Given the description of an element on the screen output the (x, y) to click on. 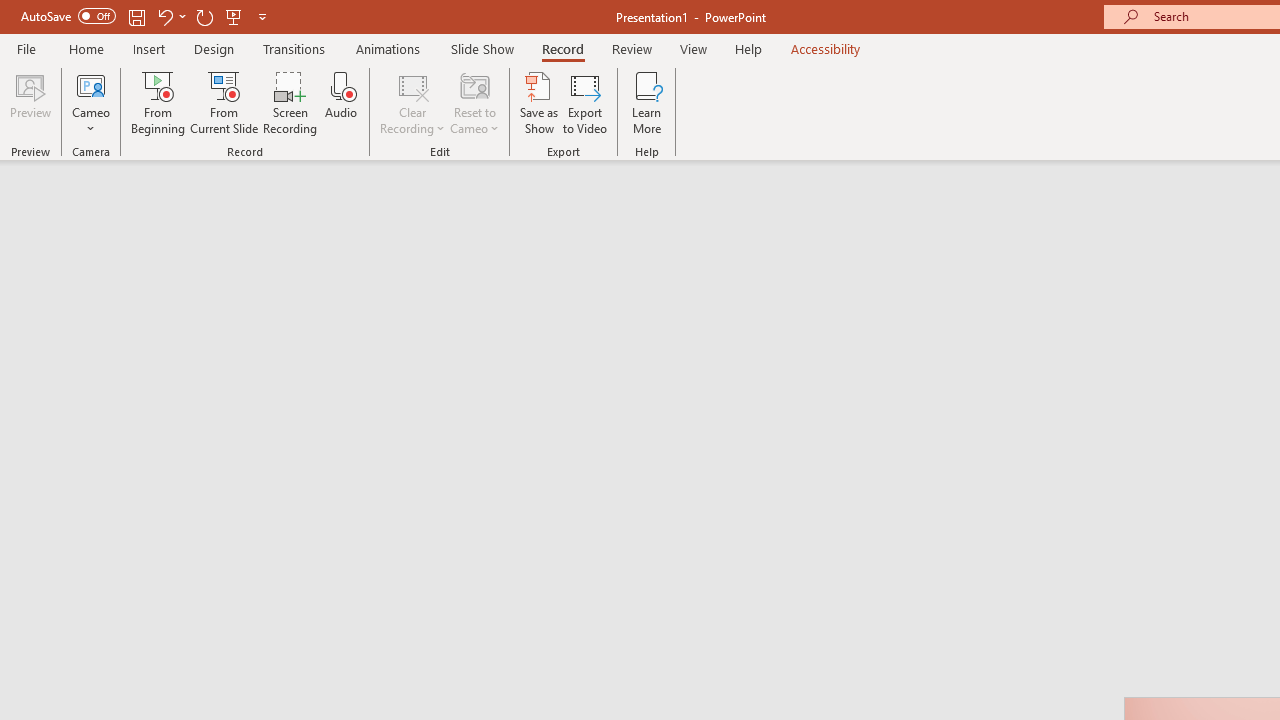
Learn More (646, 102)
Save as Show (539, 102)
Audio (341, 102)
Export to Video (585, 102)
